Given the description of an element on the screen output the (x, y) to click on. 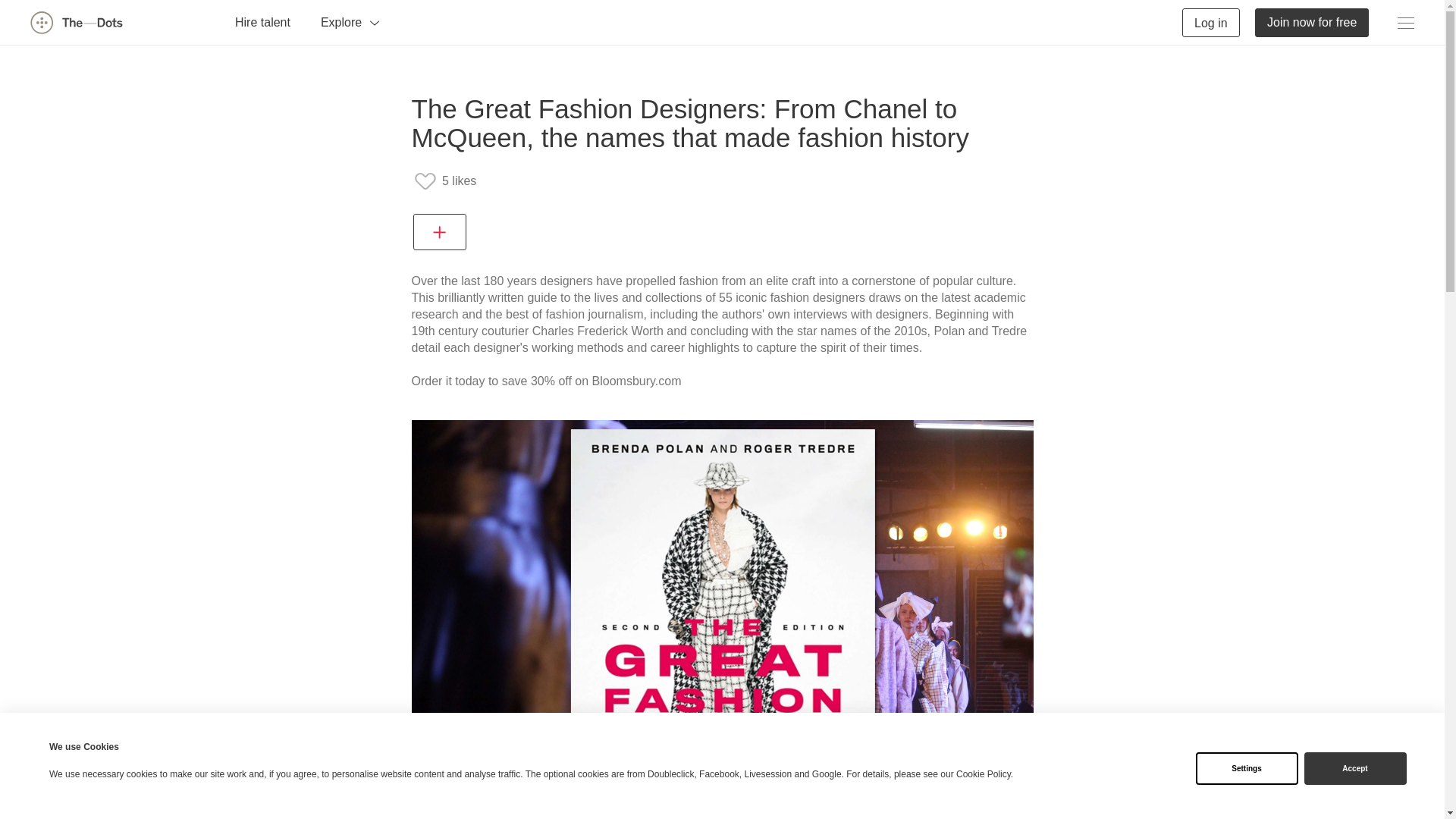
Log in (1211, 21)
5 likes (444, 180)
Explore (350, 21)
Hire talent (261, 21)
Join now for free (1311, 21)
